Given the description of an element on the screen output the (x, y) to click on. 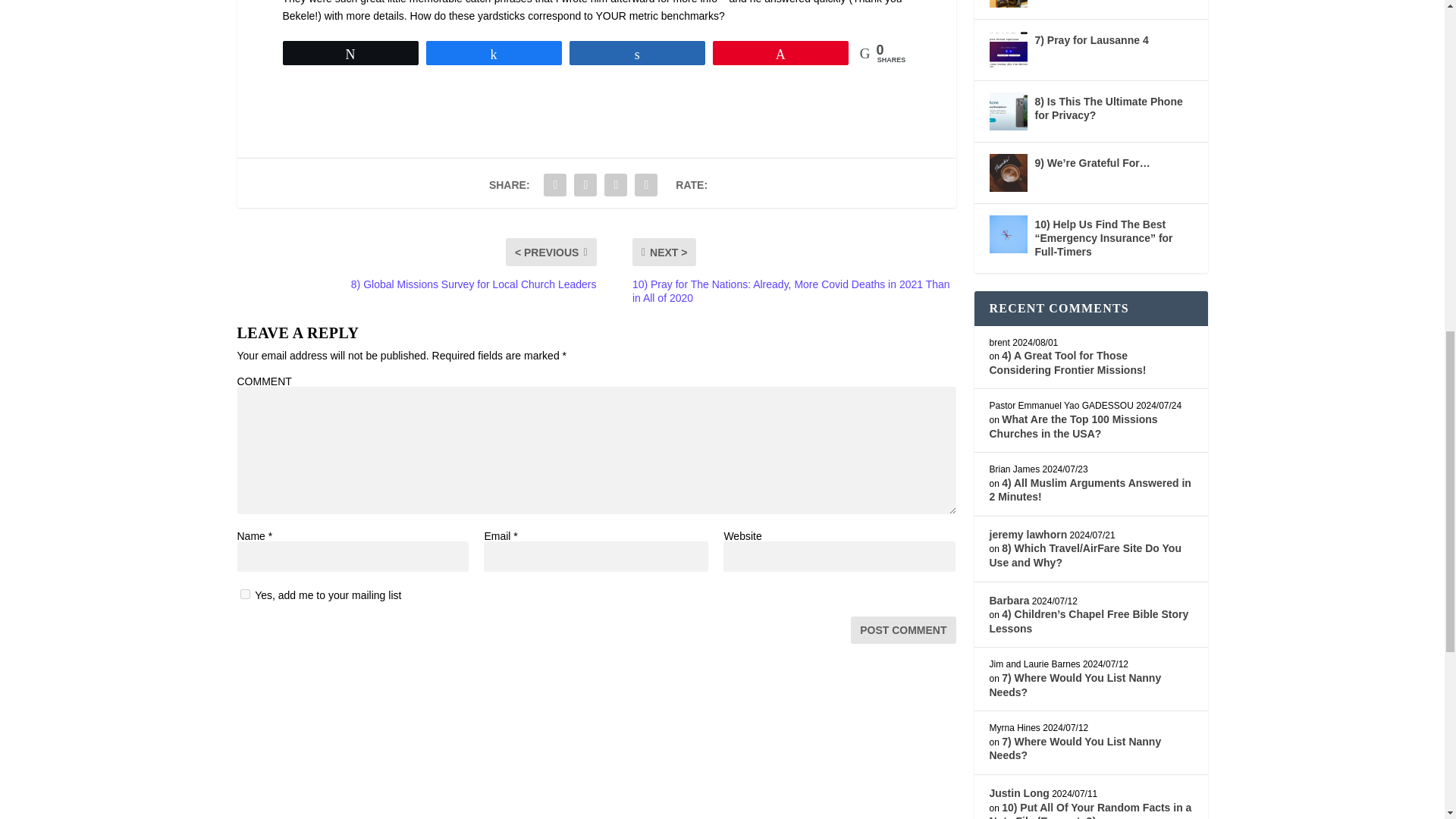
Post Comment (902, 629)
Post Comment (902, 629)
1 (244, 593)
